Given the description of an element on the screen output the (x, y) to click on. 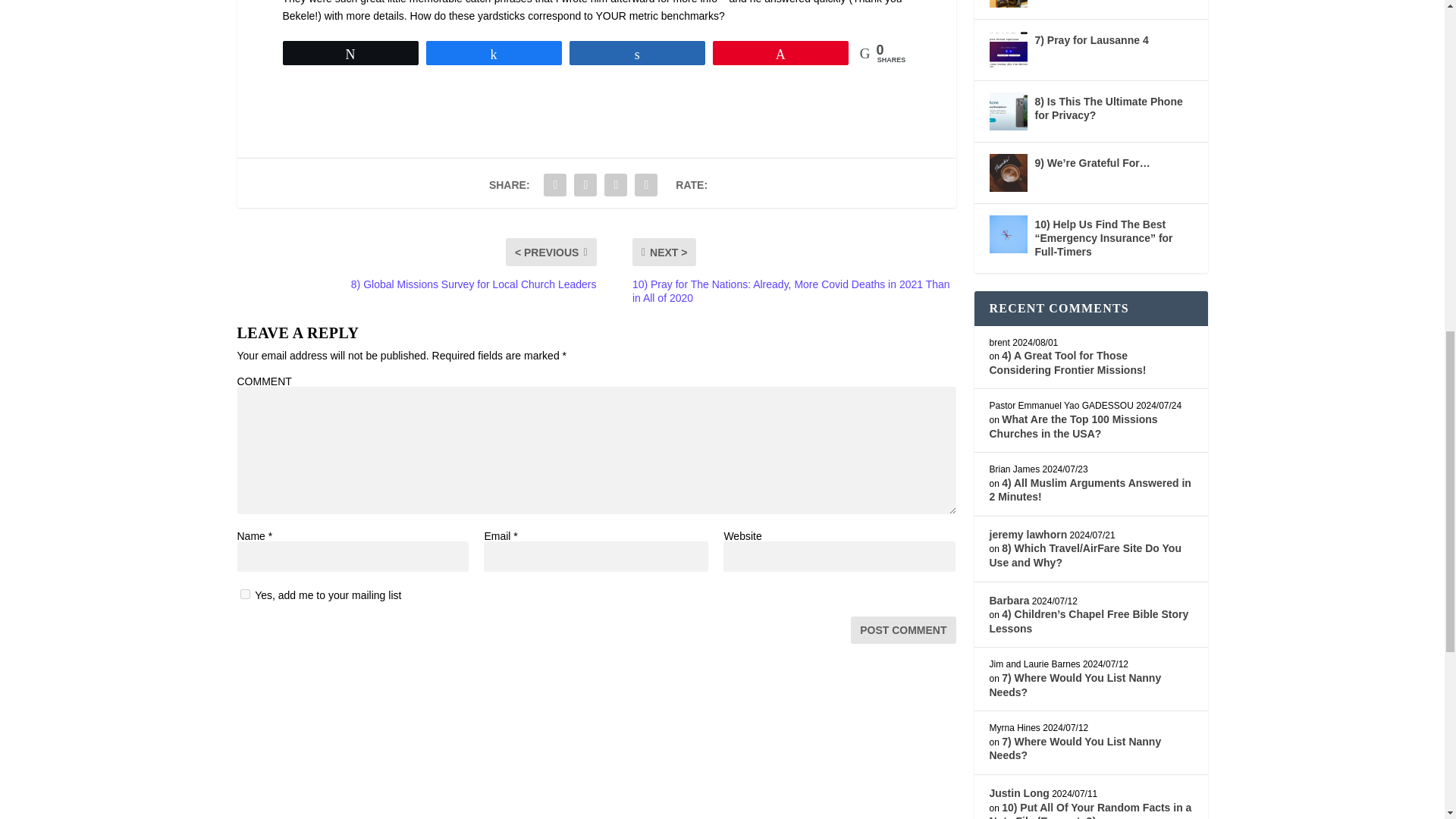
Post Comment (902, 629)
Post Comment (902, 629)
1 (244, 593)
